Given the description of an element on the screen output the (x, y) to click on. 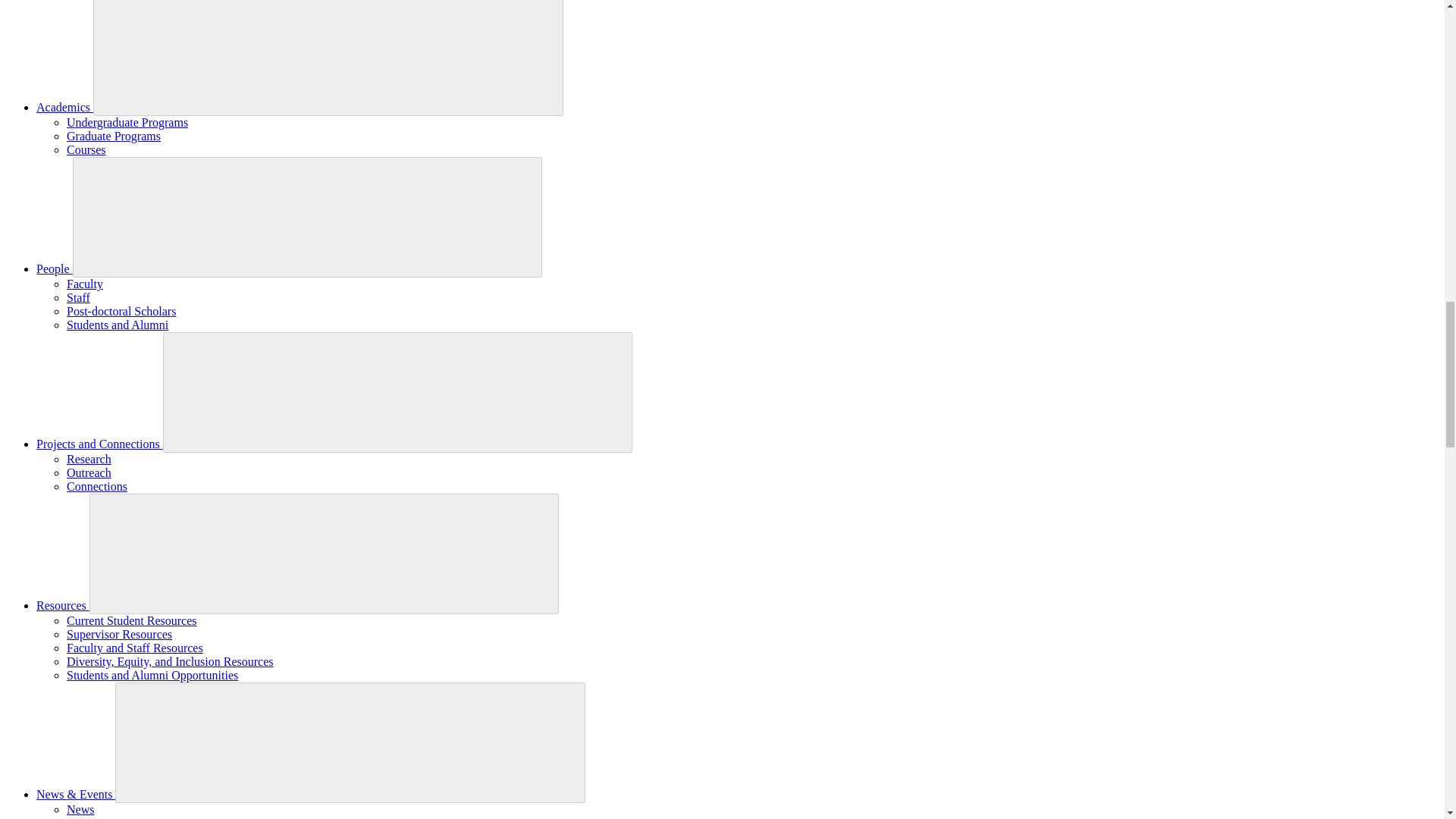
People (54, 268)
Post-doctoral Scholars (121, 310)
Staff (78, 297)
Faculty (84, 283)
Projects and Connections (99, 443)
Students and Alumni (117, 324)
Graduate Programs (113, 135)
Courses (86, 149)
Undergraduate Programs (126, 122)
Academics (64, 106)
